Given the description of an element on the screen output the (x, y) to click on. 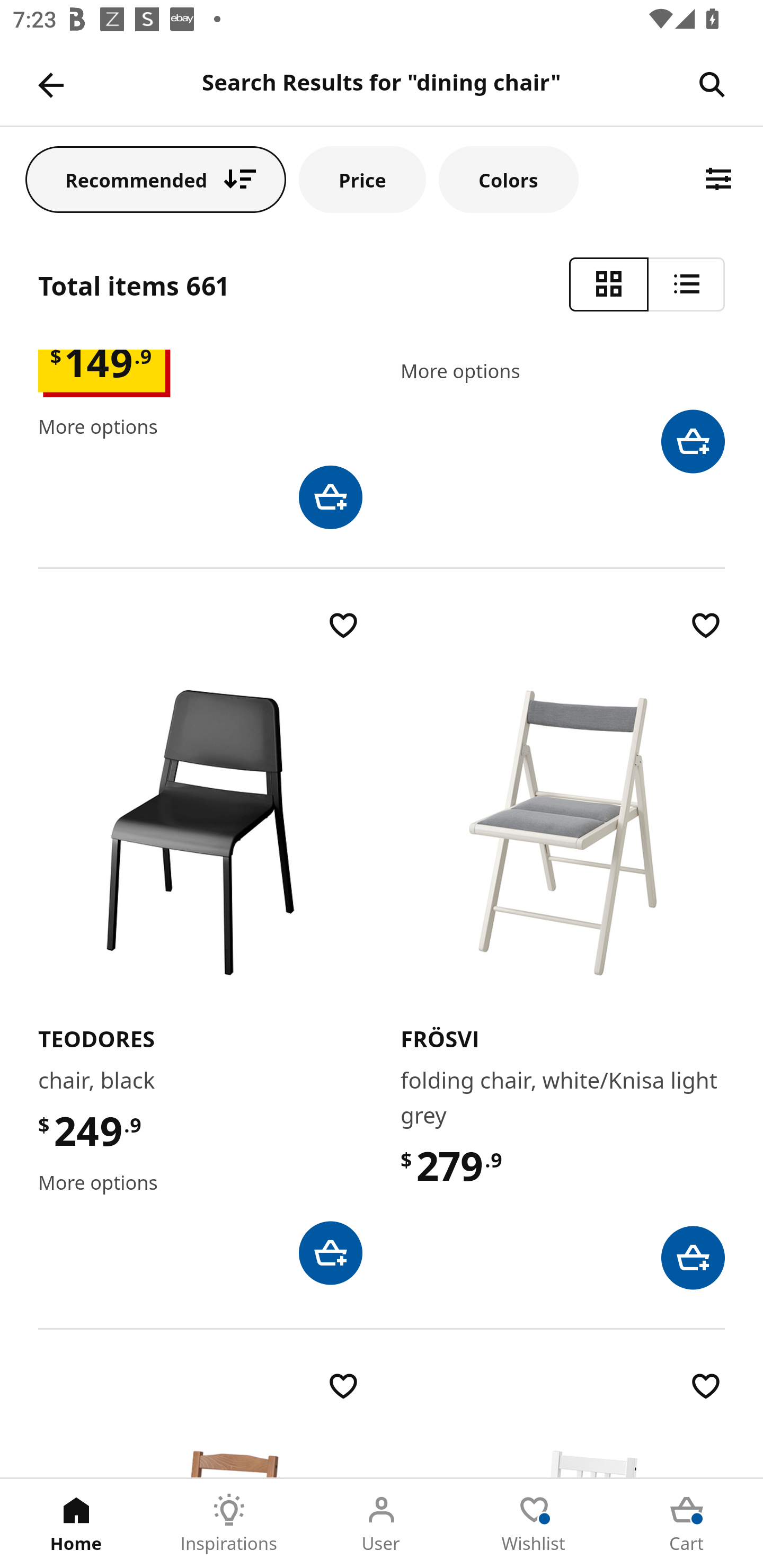
Recommended (155, 179)
Price (362, 179)
Colors (508, 179)
Home
Tab 1 of 5 (76, 1522)
Inspirations
Tab 2 of 5 (228, 1522)
User
Tab 3 of 5 (381, 1522)
Wishlist
Tab 4 of 5 (533, 1522)
Cart
Tab 5 of 5 (686, 1522)
